Given the description of an element on the screen output the (x, y) to click on. 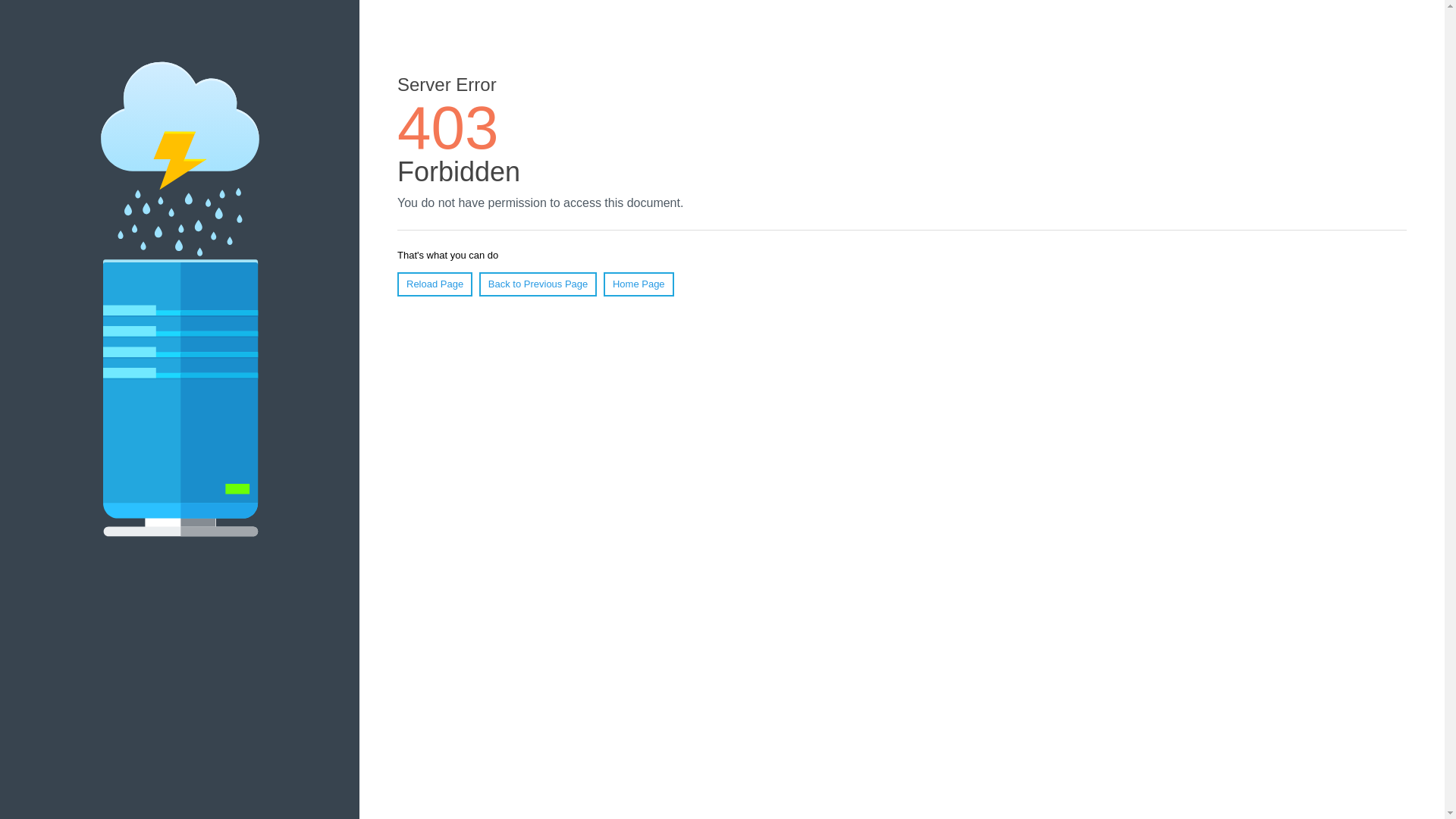
Home Page Element type: text (638, 284)
Back to Previous Page Element type: text (538, 284)
Reload Page Element type: text (434, 284)
